Given the description of an element on the screen output the (x, y) to click on. 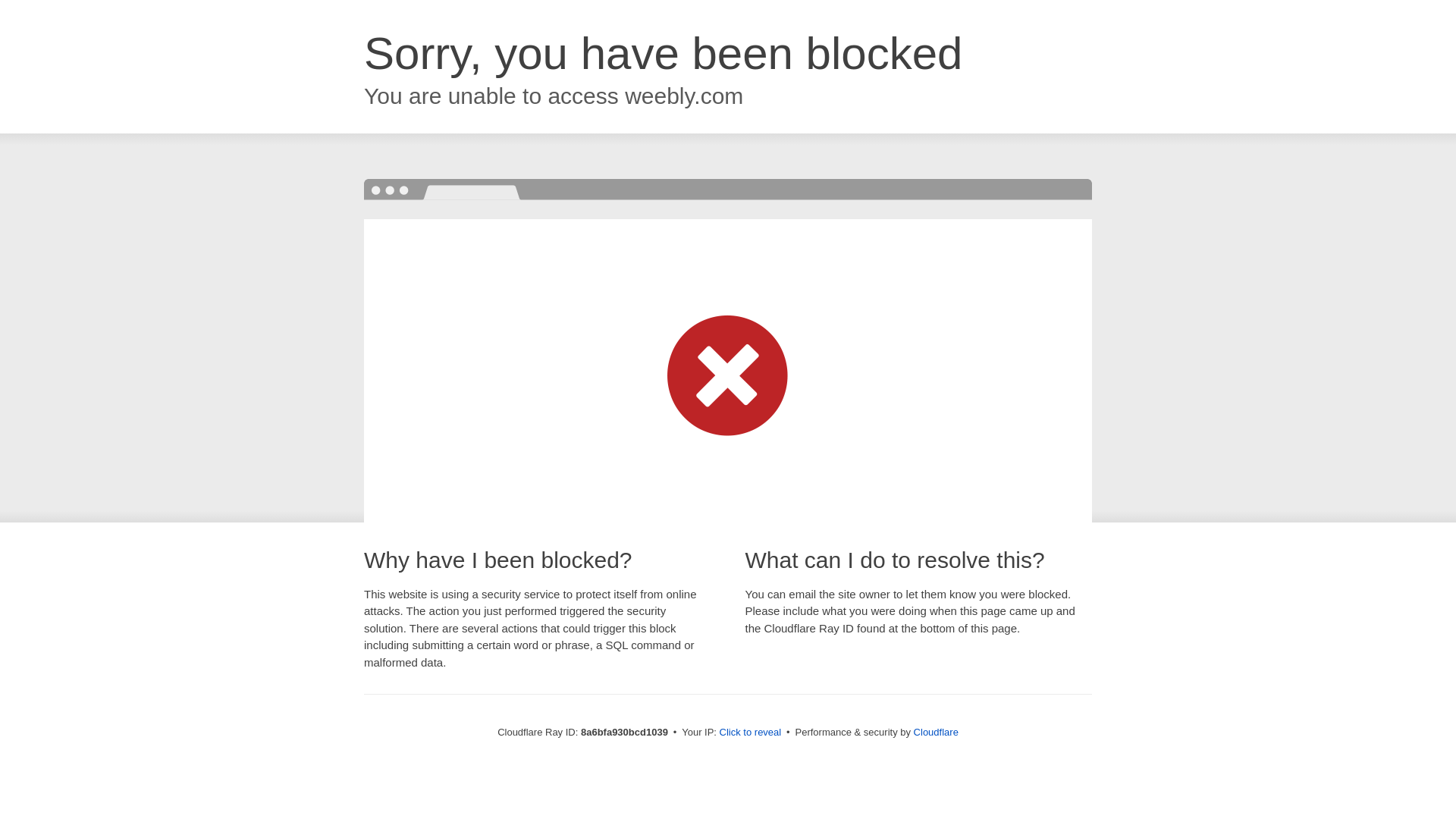
Cloudflare (936, 731)
Click to reveal (750, 732)
